Given the description of an element on the screen output the (x, y) to click on. 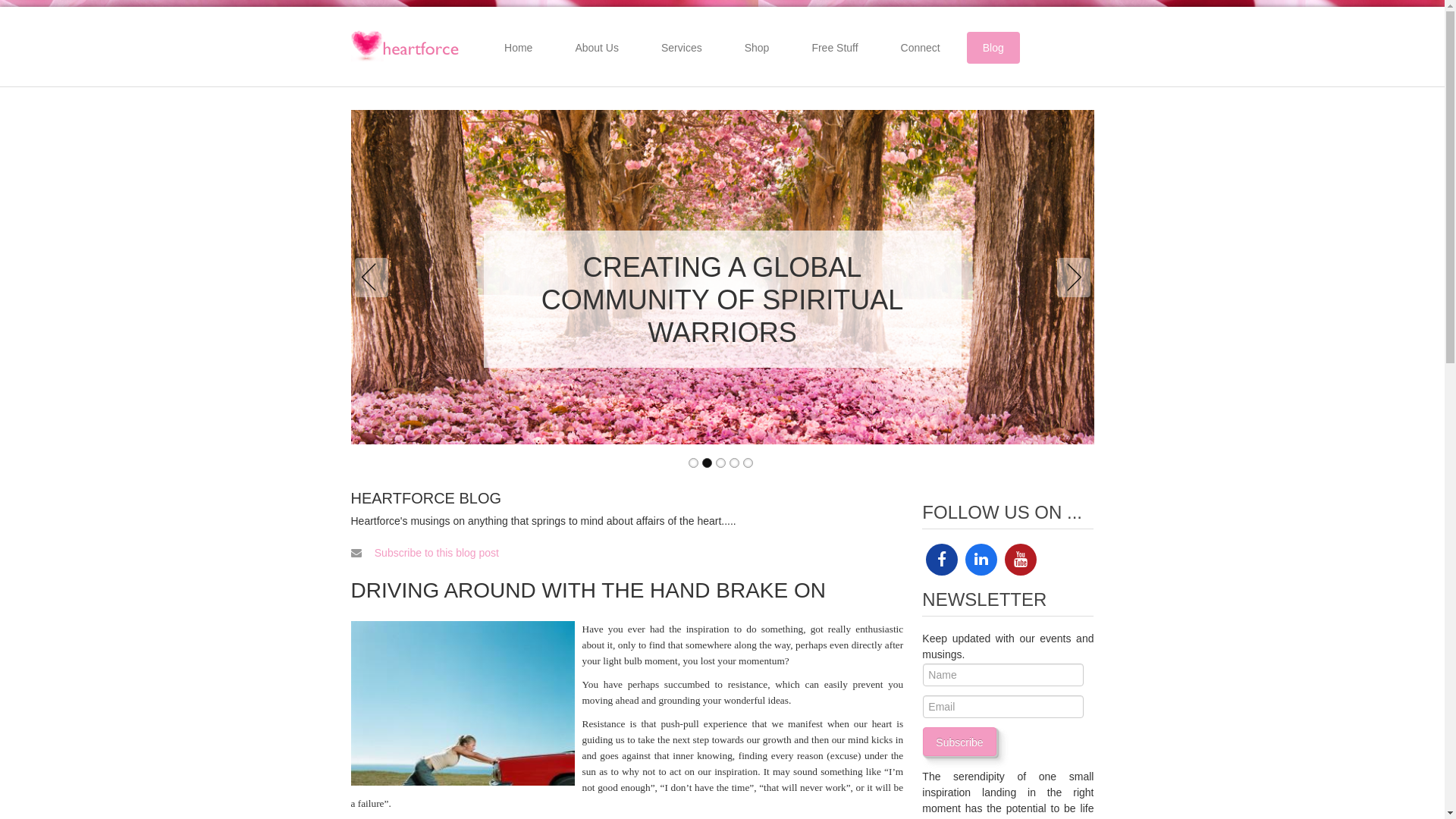
5 Element type: text (748, 462)
Home Element type: text (518, 47)
Services Element type: text (681, 47)
Shop Element type: text (756, 47)
4 Element type: text (734, 462)
1 Element type: text (693, 462)
3 Element type: text (720, 462)
Next Element type: text (1070, 277)
Subscribe Element type: text (958, 741)
About Us Element type: text (596, 47)
Free Stuff Element type: text (834, 47)
2 Element type: text (707, 462)
Previous Element type: text (374, 277)
Blog Element type: text (992, 47)
Connect Element type: text (920, 47)
Subscribe to this blog post Element type: text (436, 552)
